Given the description of an element on the screen output the (x, y) to click on. 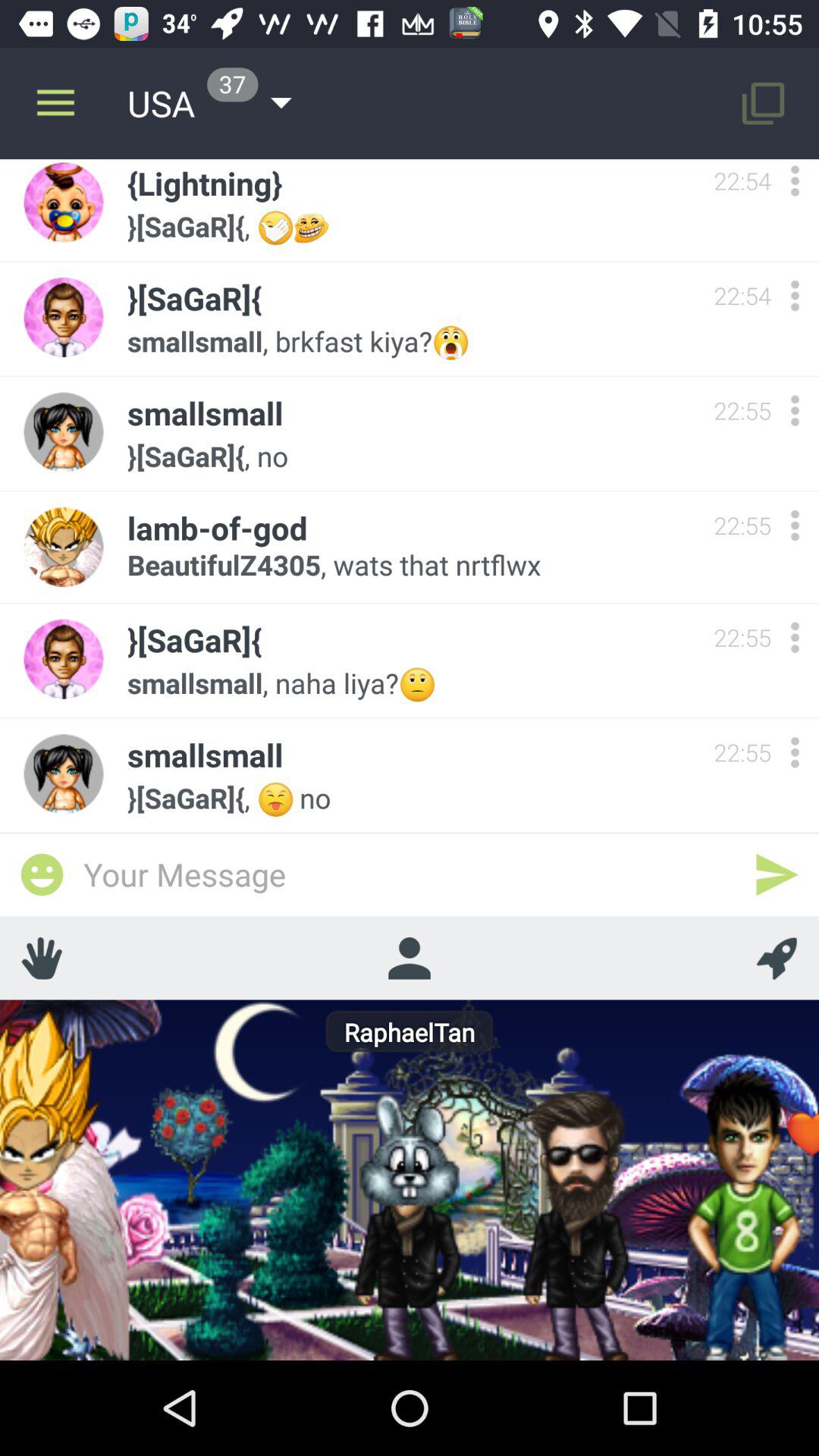
add emoji (41, 874)
